Given the description of an element on the screen output the (x, y) to click on. 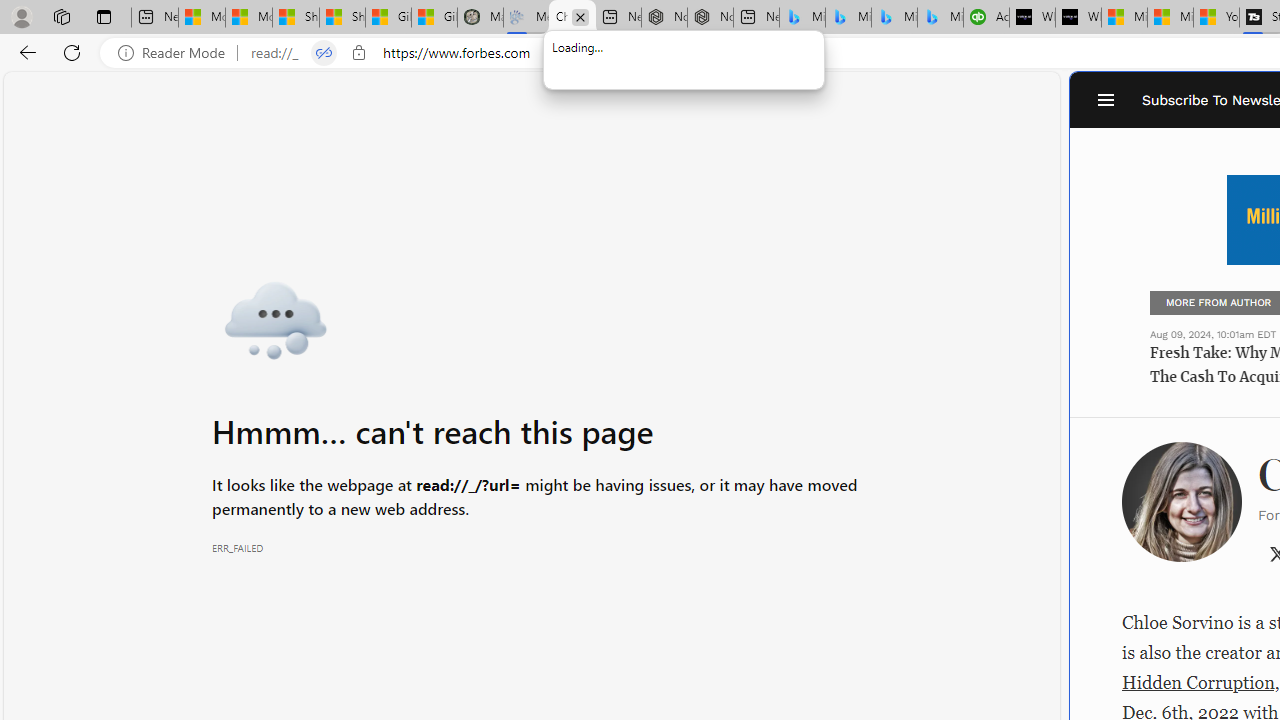
Microsoft Bing Travel - Stays in Bangkok, Bangkok, Thailand (848, 17)
Gilma and Hector both pose tropical trouble for Hawaii (434, 17)
Chloe Sorvino (572, 17)
What's the best AI voice generator? - voice.ai (1078, 17)
Microsoft Bing Travel - Shangri-La Hotel Bangkok (939, 17)
Shanghai, China weather forecast | Microsoft Weather (342, 17)
Accounting Software for Accountants, CPAs and Bookkeepers (985, 17)
